Given the description of an element on the screen output the (x, y) to click on. 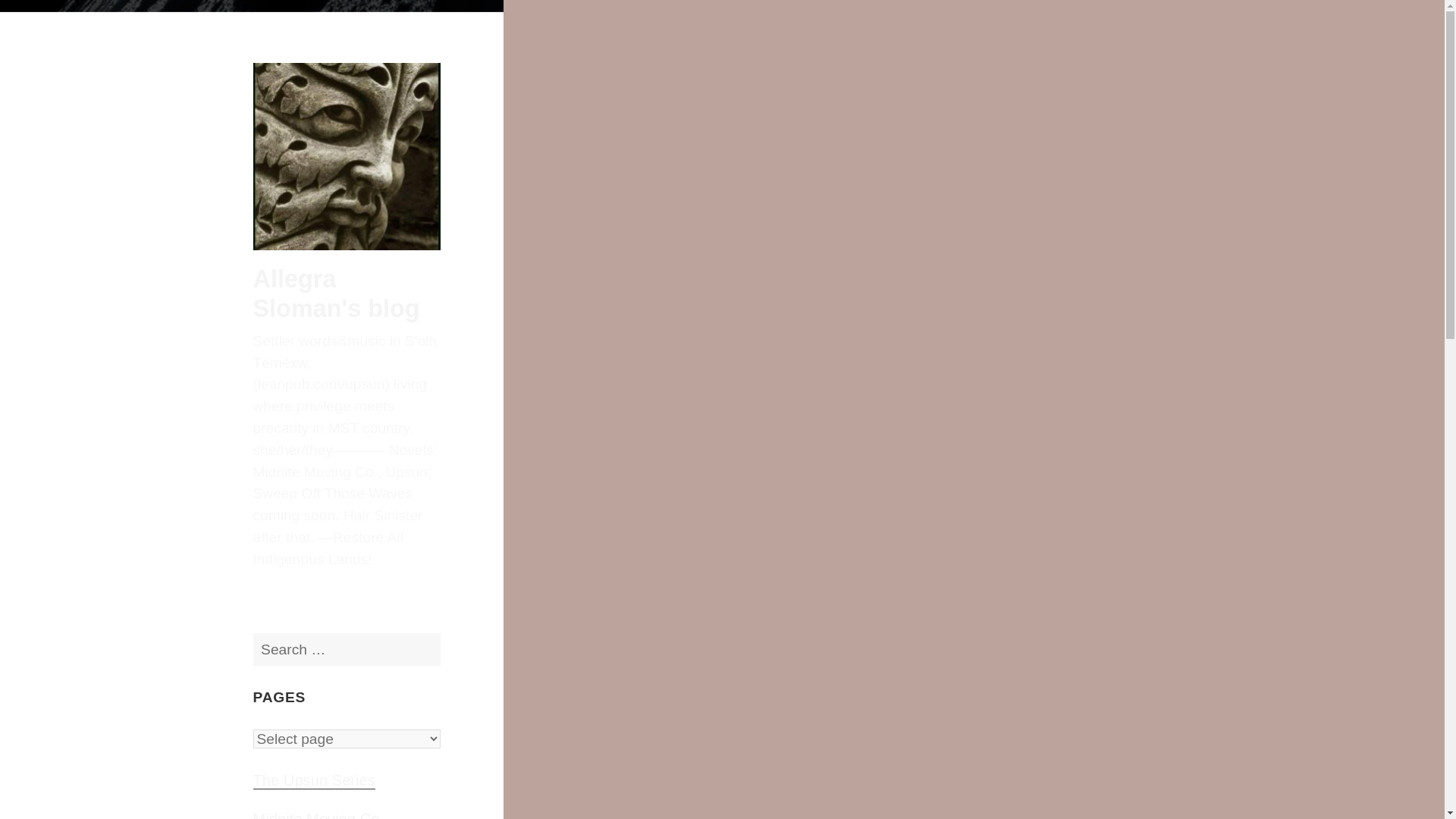
Allegra Sloman's blog (336, 293)
The Upsun Series (314, 781)
Midnite Moving Co (316, 815)
